Given the description of an element on the screen output the (x, y) to click on. 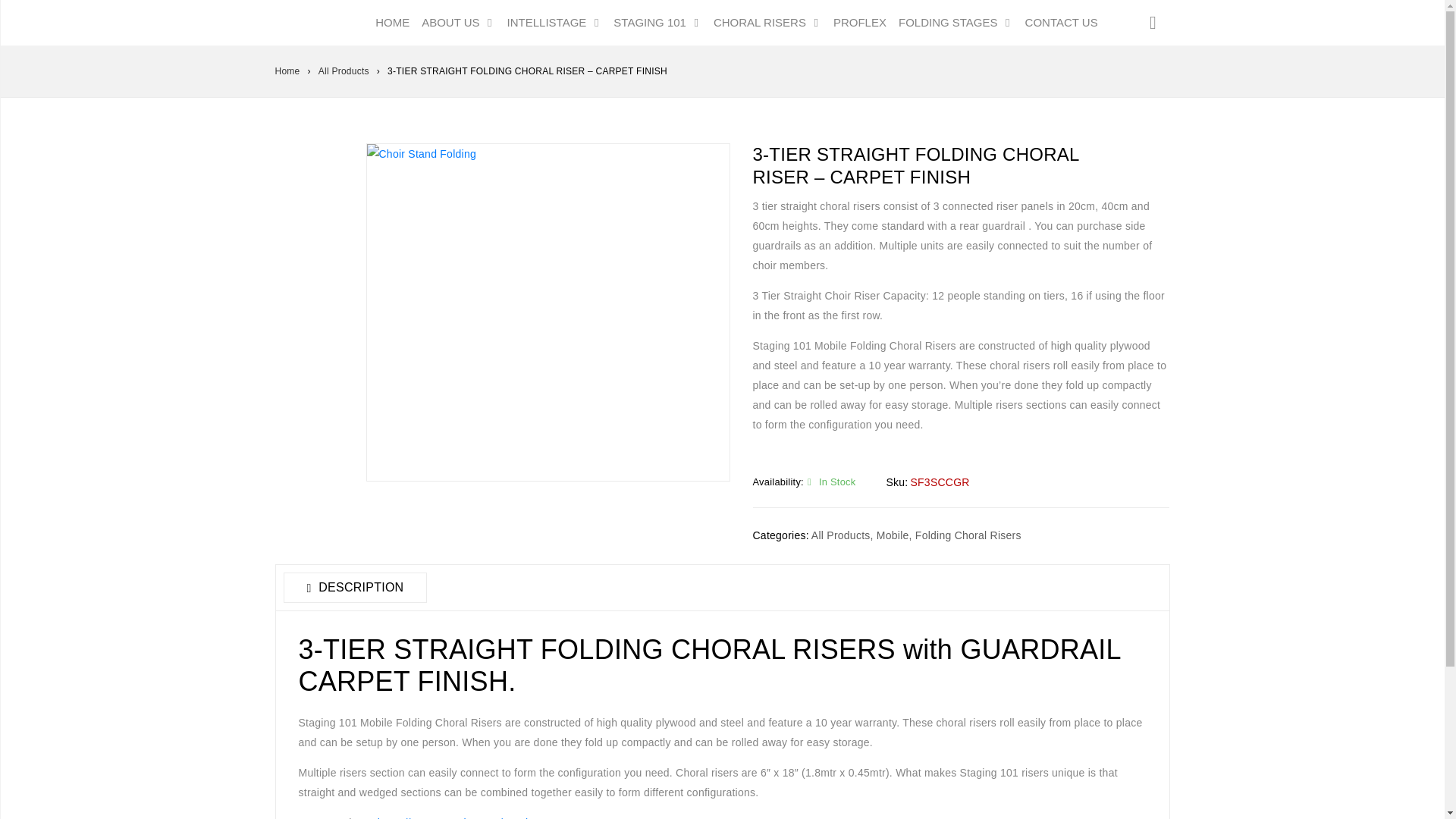
INTELLISTAGE (554, 22)
ABOUT US (458, 22)
HOME (392, 22)
SF3SCCGR Choir Riser 3 Tiers (312, 180)
SF3SCCGR Choir Riser 3 Tiers (547, 312)
